Given the description of an element on the screen output the (x, y) to click on. 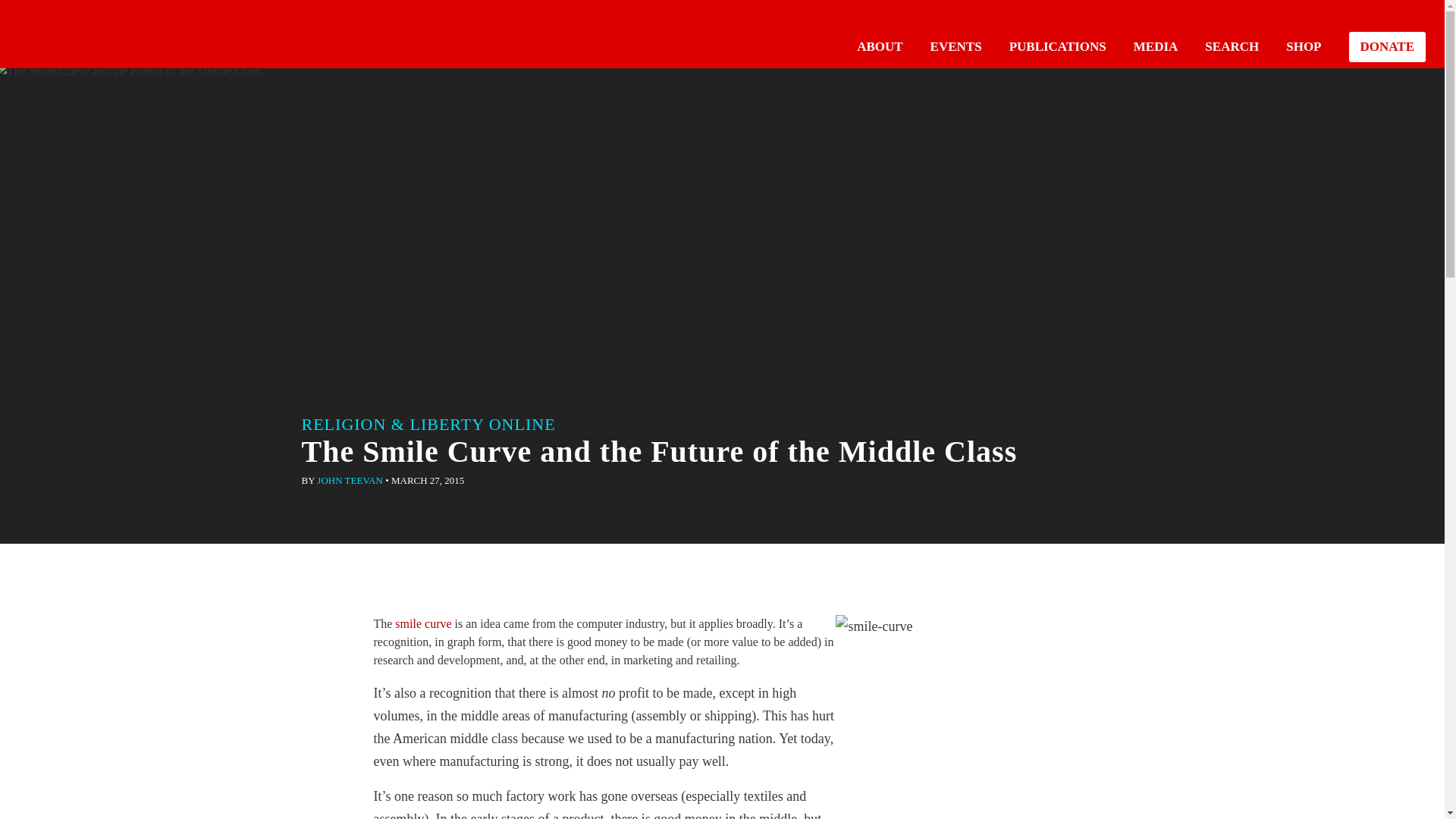
SHOP (1302, 46)
The Acton Institute (60, 31)
EVENTS (955, 46)
PUBLICATIONS (1057, 46)
SEARCH (1232, 46)
DONATE (1387, 46)
Posts by John Teevan (349, 480)
JOHN TEEVAN (349, 480)
ABOUT (879, 46)
smile curve (422, 623)
MEDIA (1155, 46)
